Given the description of an element on the screen output the (x, y) to click on. 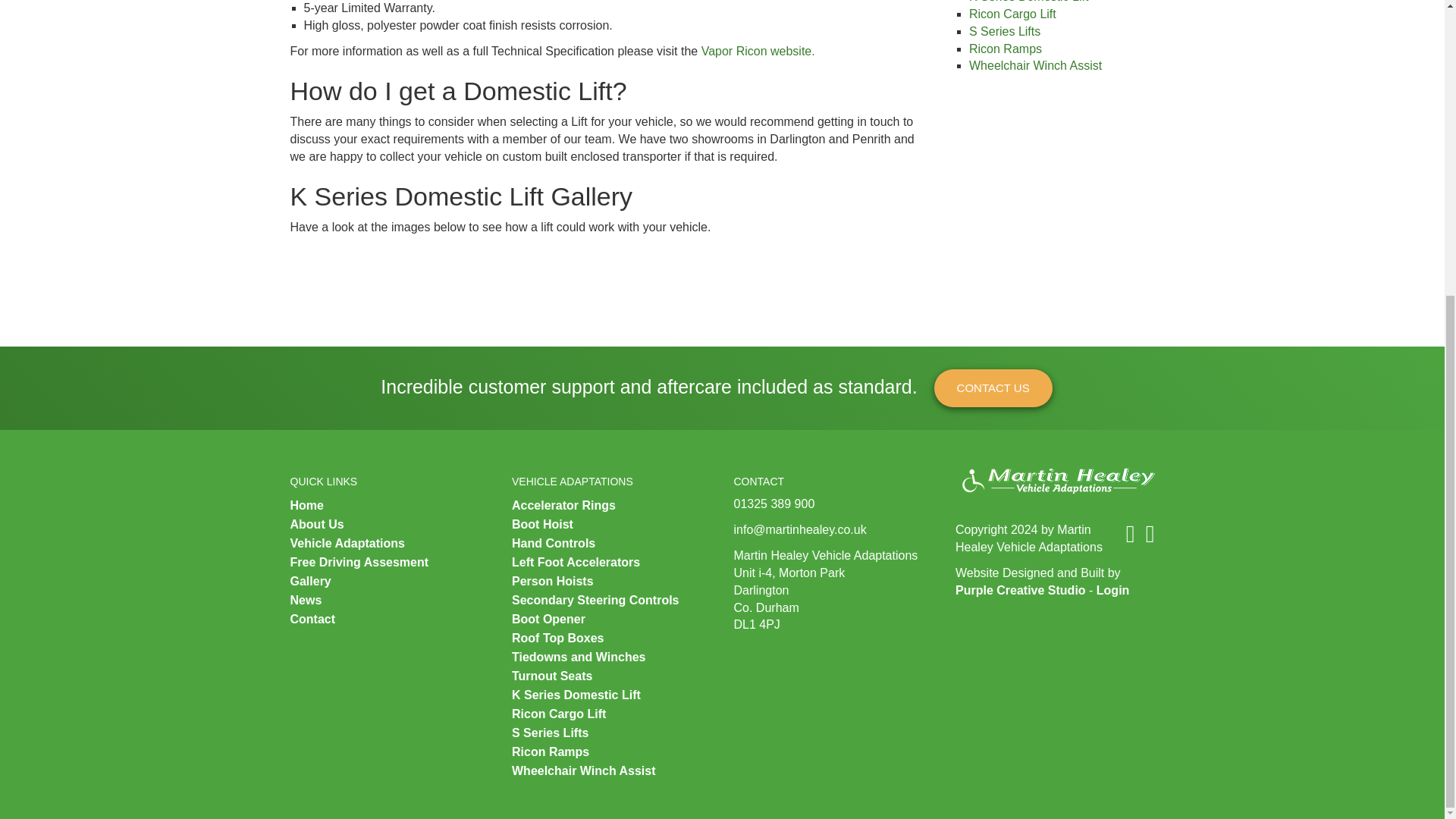
Martin Healey Vehicle Adaptations (1054, 480)
Vapor Ricon website.  (759, 51)
Login (1112, 590)
